Given the description of an element on the screen output the (x, y) to click on. 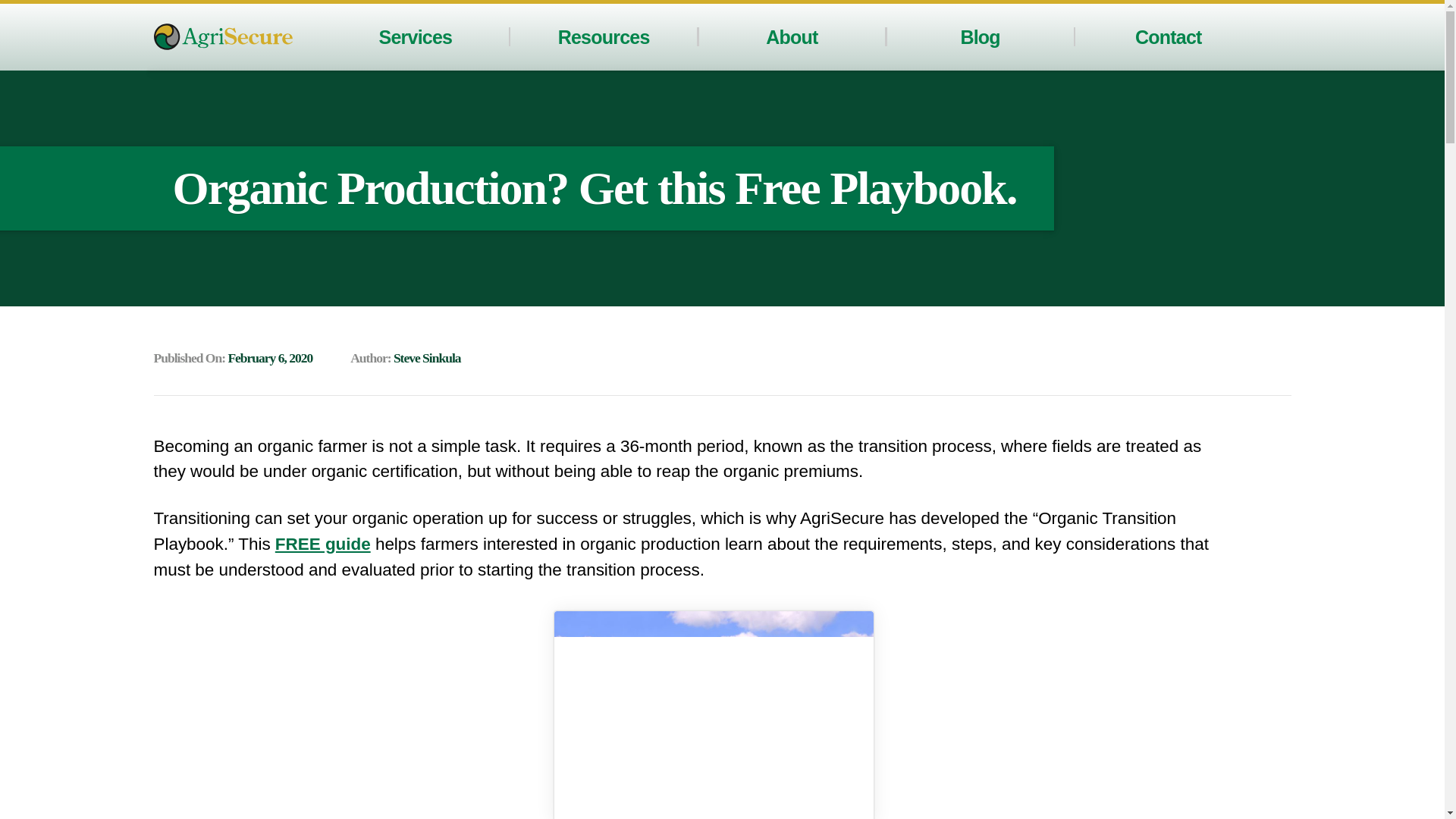
Services (415, 37)
About (790, 37)
FREE guide (323, 544)
Services (415, 37)
Contact (1168, 37)
About (790, 37)
Resources (603, 37)
Contact (1168, 37)
AgriSecure (222, 36)
Blog (978, 37)
Blog (978, 37)
Resources (603, 37)
